Given the description of an element on the screen output the (x, y) to click on. 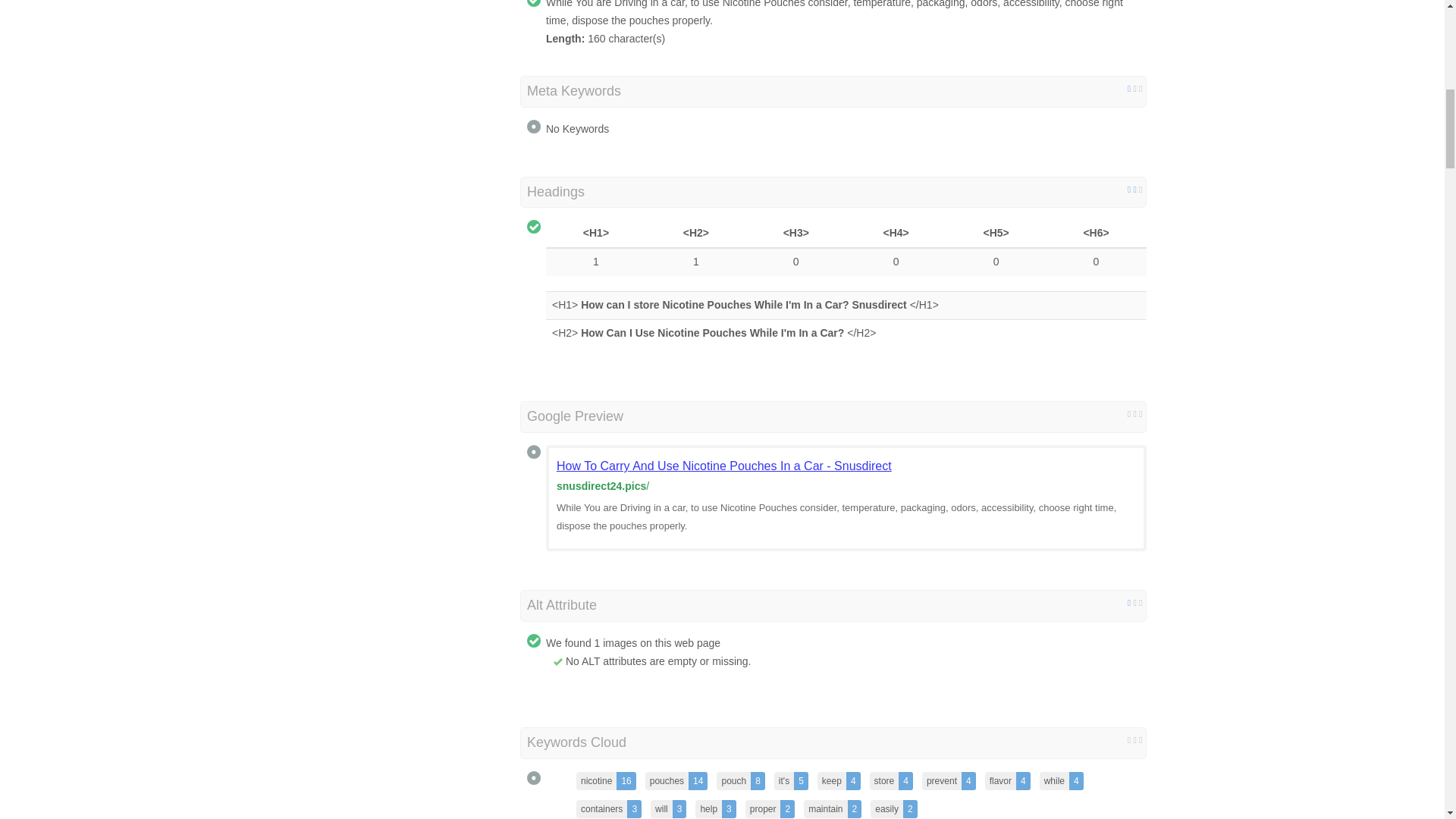
No Alt Tag Missing (557, 661)
